Given the description of an element on the screen output the (x, y) to click on. 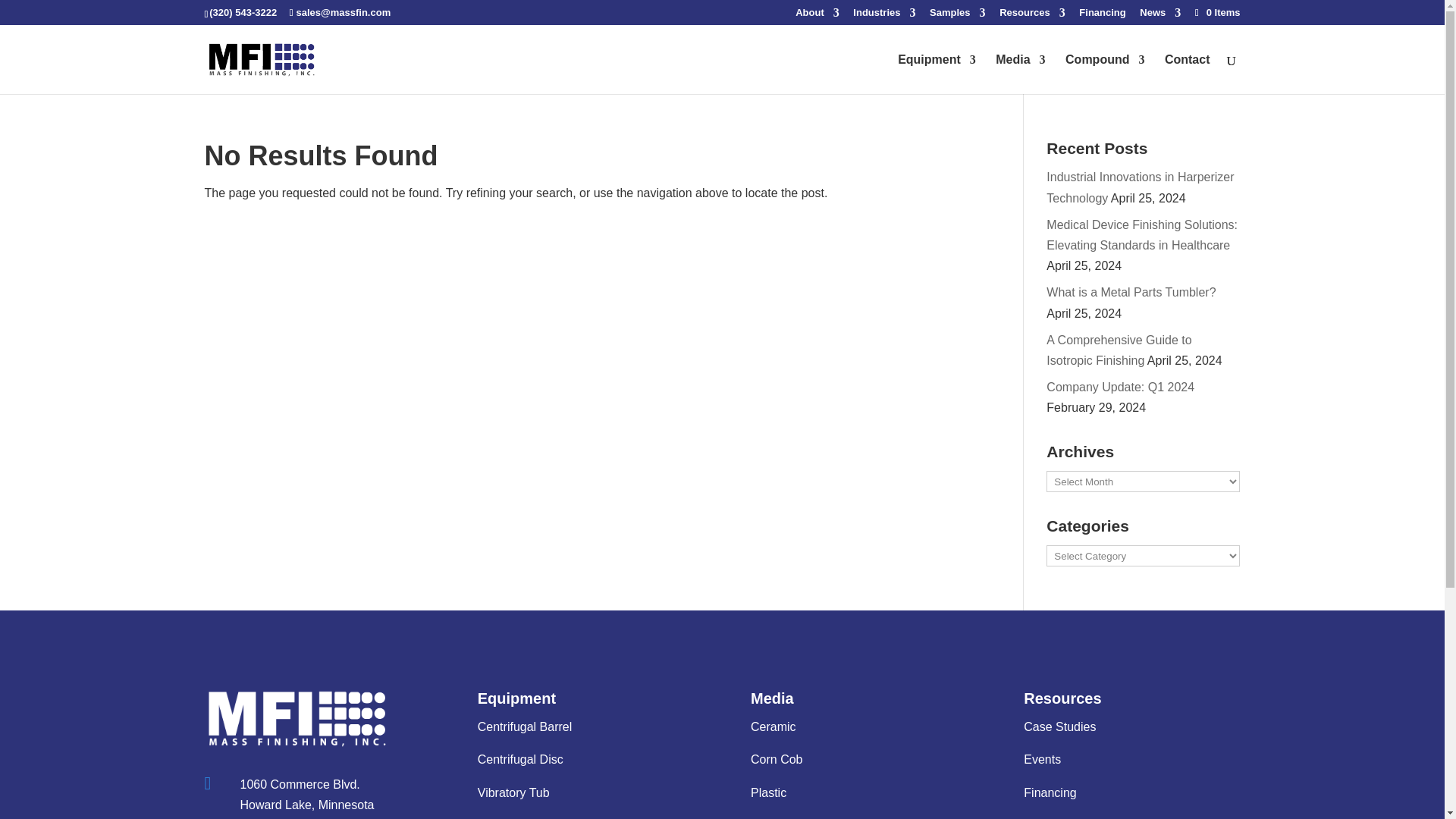
Financing (1101, 16)
News (1160, 16)
Industries (884, 16)
Equipment (936, 74)
Samples (957, 16)
About (817, 16)
0 Items (1216, 12)
MFI White Logo (297, 718)
Resources (1031, 16)
